Given the description of an element on the screen output the (x, y) to click on. 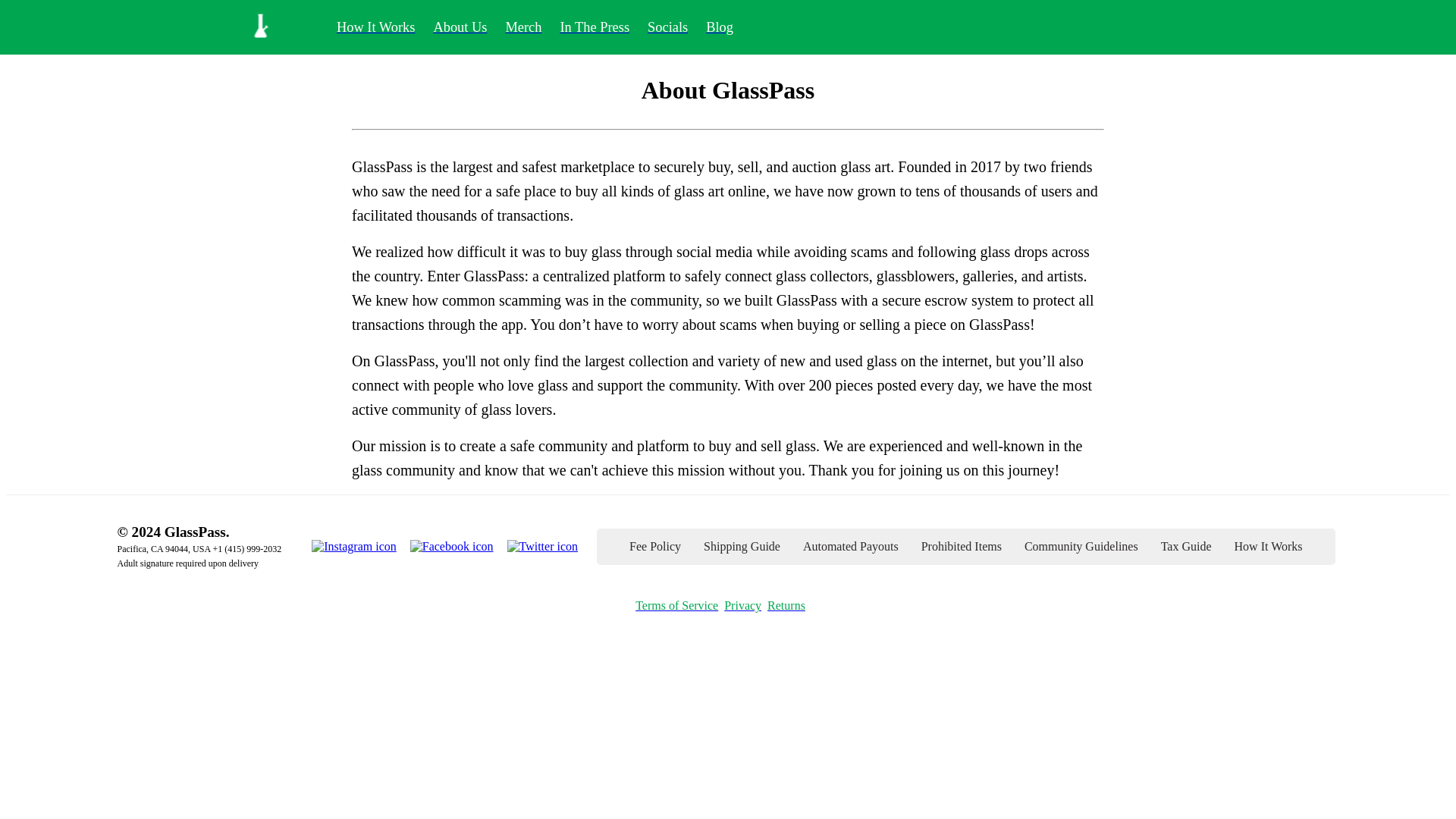
How It Works (1268, 546)
In The Press (593, 27)
Terms of Service (675, 605)
Merch (523, 27)
Community Guidelines (1081, 546)
Privacy (742, 605)
Automated Payouts (851, 546)
Shipping Guide (742, 546)
Prohibited Items (961, 546)
About Us (459, 27)
